Given the description of an element on the screen output the (x, y) to click on. 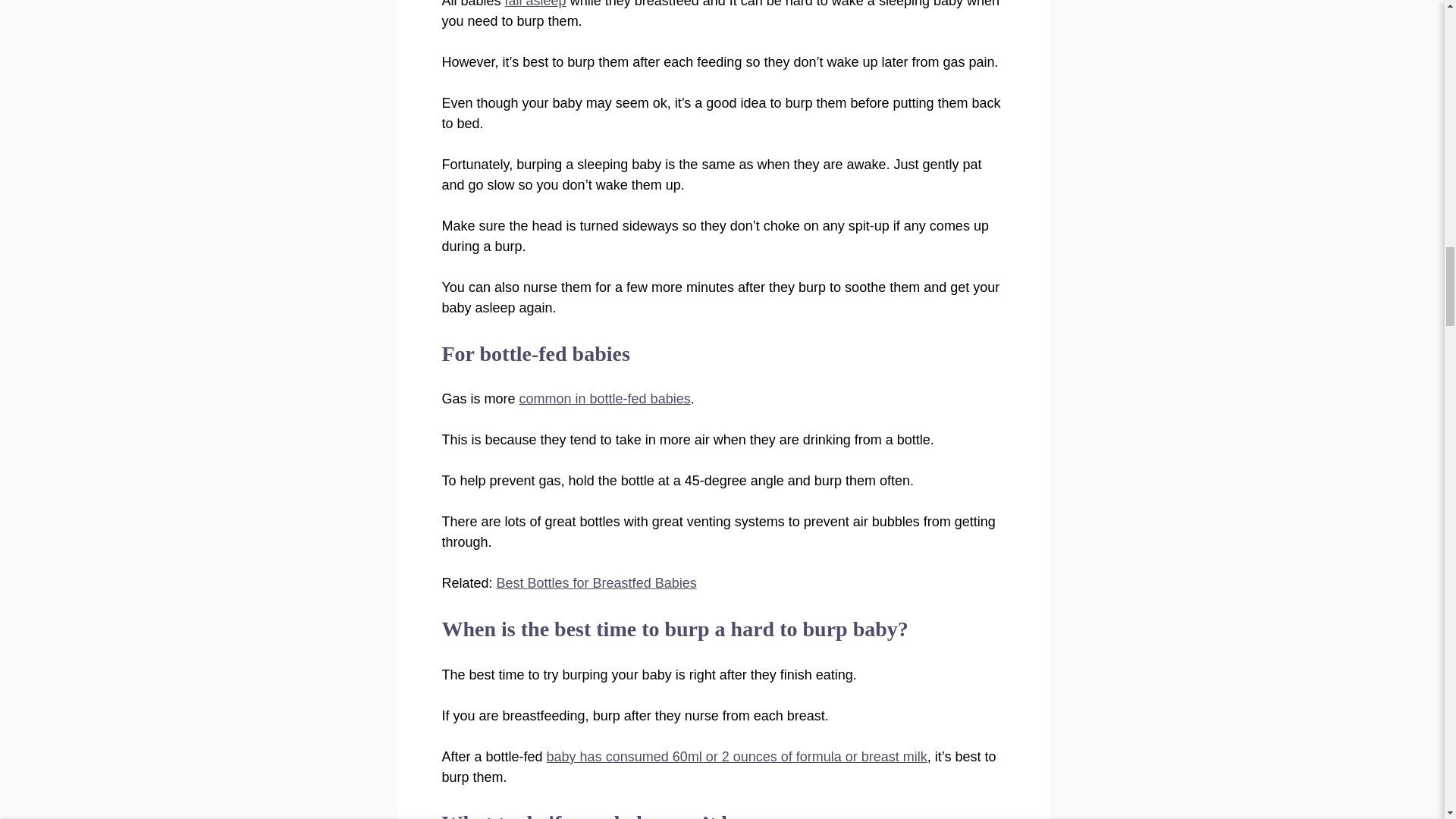
baby has consumed 60ml or 2 ounces of formula or breast milk (737, 756)
common in bottle-fed babies (604, 398)
fall asleep (535, 4)
Best Bottles for Breastfed Babies (596, 582)
